Given the description of an element on the screen output the (x, y) to click on. 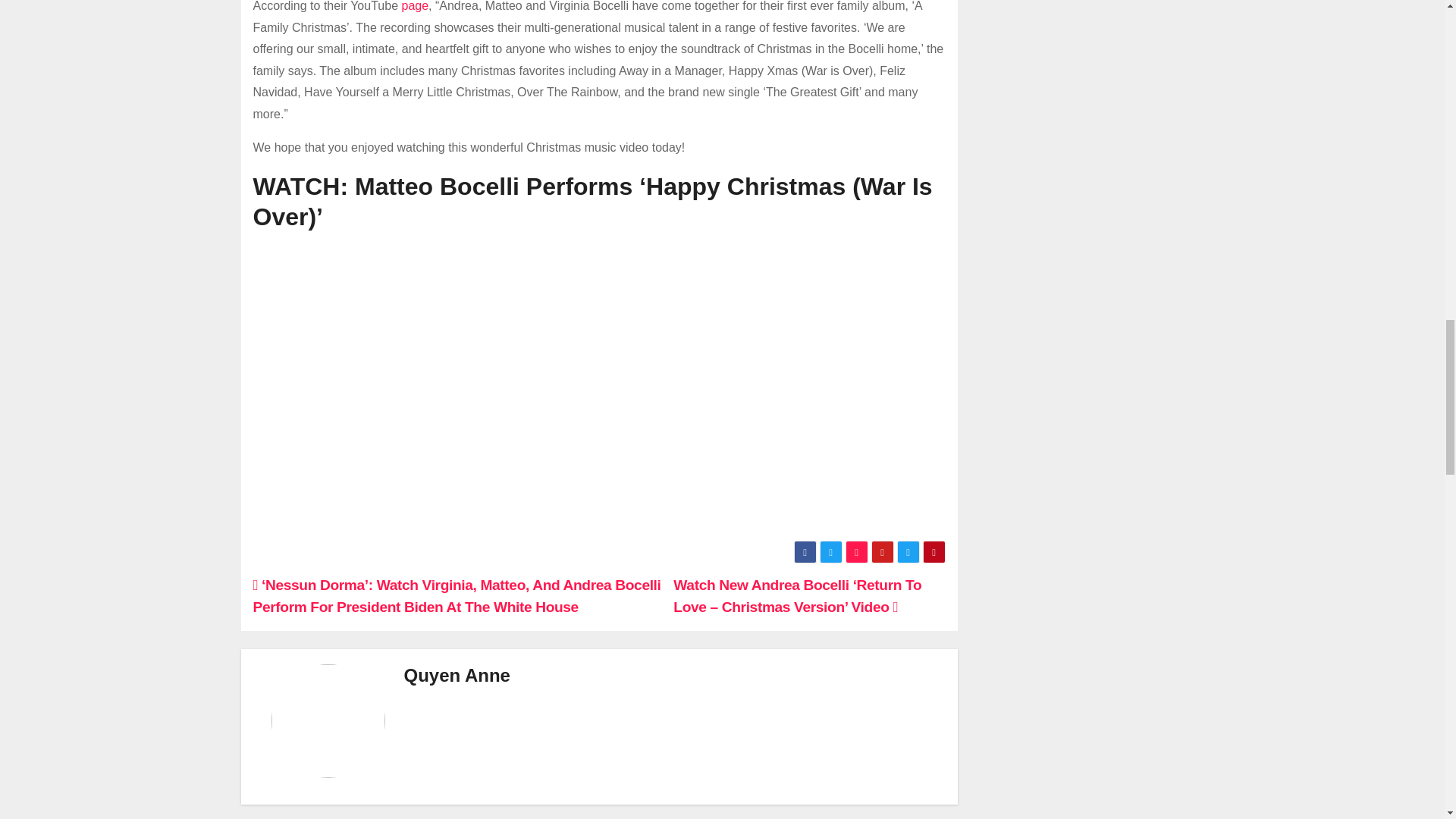
Quyen Anne (456, 675)
page (414, 6)
